Given the description of an element on the screen output the (x, y) to click on. 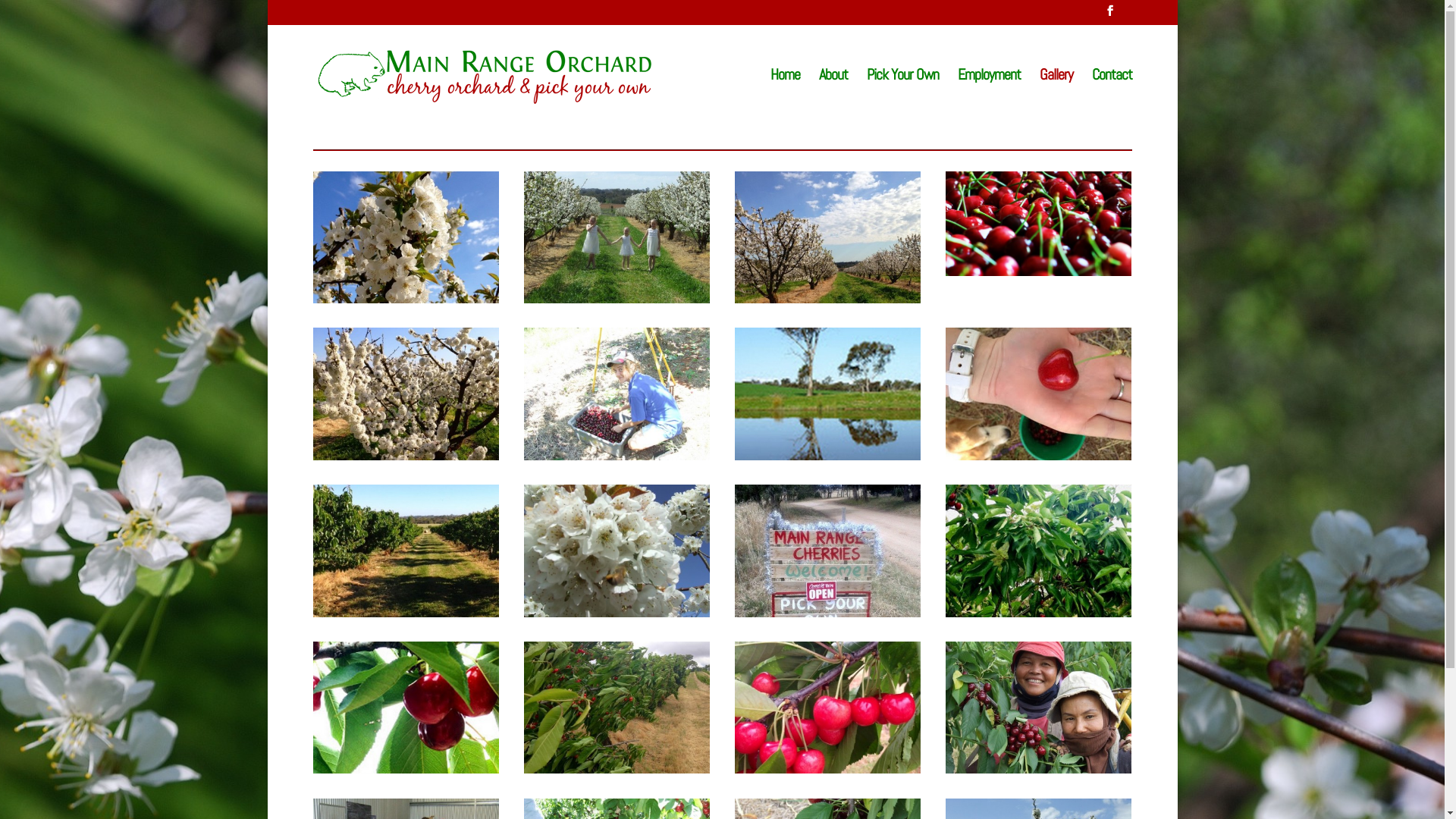
MainRangeOrchard14 Element type: hover (1038, 455)
MainRangeOrchard53 Element type: hover (617, 298)
MainRangeOrchard17 Element type: hover (827, 612)
MainRangeOrchard45 Element type: hover (617, 612)
MainRangeOrchard15 Element type: hover (405, 612)
MainRangeOrchard21 Element type: hover (405, 768)
Pick Your Own Element type: text (902, 95)
MainRangeOrchard1 Element type: hover (405, 298)
MainRangeOrchard38 Element type: hover (1038, 768)
Contact Element type: text (1112, 95)
MainRangeOrchard39 Element type: hover (617, 455)
MainRangeOrchard23 Element type: hover (617, 768)
About Element type: text (833, 95)
MainRangeOrchard25 Element type: hover (827, 768)
Gallery Element type: text (1055, 95)
MainRangeOrchard11 Element type: hover (827, 455)
MainRangeOrchard20 Element type: hover (1038, 612)
MainRangeOrchard2 Element type: hover (827, 298)
MainRangeOrchard5 Element type: hover (1038, 271)
MainRangeOrchard6 Element type: hover (405, 455)
Home Element type: text (785, 95)
Employment Element type: text (988, 95)
